Given the description of an element on the screen output the (x, y) to click on. 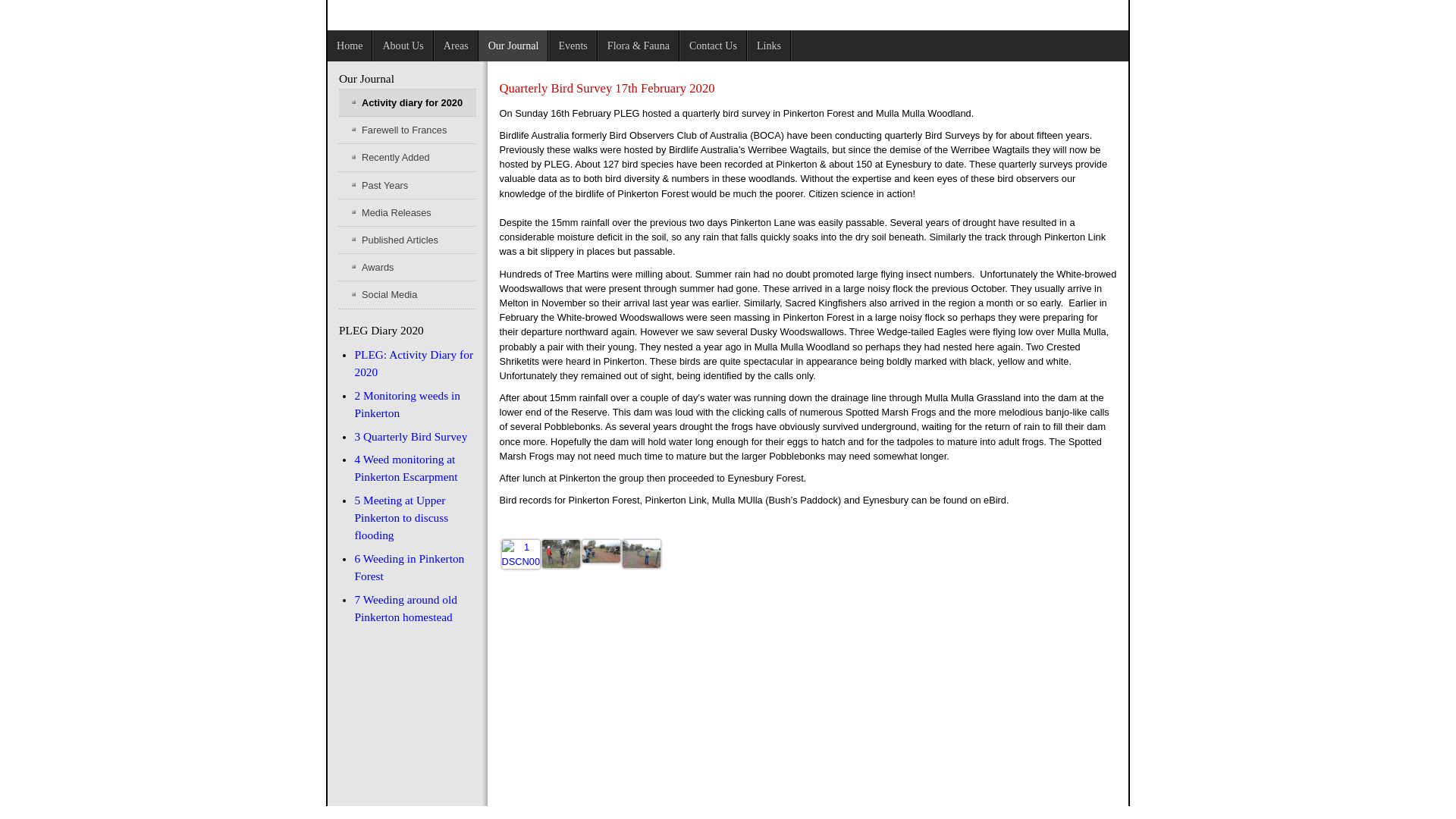
5 Meeting at Upper Pinkerton to discuss flooding Element type: text (401, 517)
Links Element type: text (768, 45)
Events Element type: text (572, 45)
Farewell to Frances Element type: text (407, 129)
4 Weed monitoring at Pinkerton Escarpment Element type: text (405, 467)
Past Years Element type: text (407, 185)
6 Weeding in Pinkerton Forest Element type: text (409, 567)
Media Releases Element type: text (407, 212)
Published Articles Element type: text (407, 239)
Awards Element type: text (407, 267)
Recently Added Element type: text (407, 157)
2 Monitoring weeds in Pinkerton Element type: text (407, 404)
Activity diary for 2020 Element type: text (407, 102)
Home Element type: text (349, 45)
PLEG: Activity Diary for 2020 Element type: text (413, 363)
Contact Us Element type: text (713, 45)
Our Journal Element type: text (514, 45)
3 Quarterly Bird Survey Element type: text (410, 435)
About Us Element type: text (403, 45)
7 Weeding around old Pinkerton homestead Element type: text (405, 608)
Areas Element type: text (456, 45)
Social Media Element type: text (407, 294)
Flora & Fauna Element type: text (638, 45)
